Given the description of an element on the screen output the (x, y) to click on. 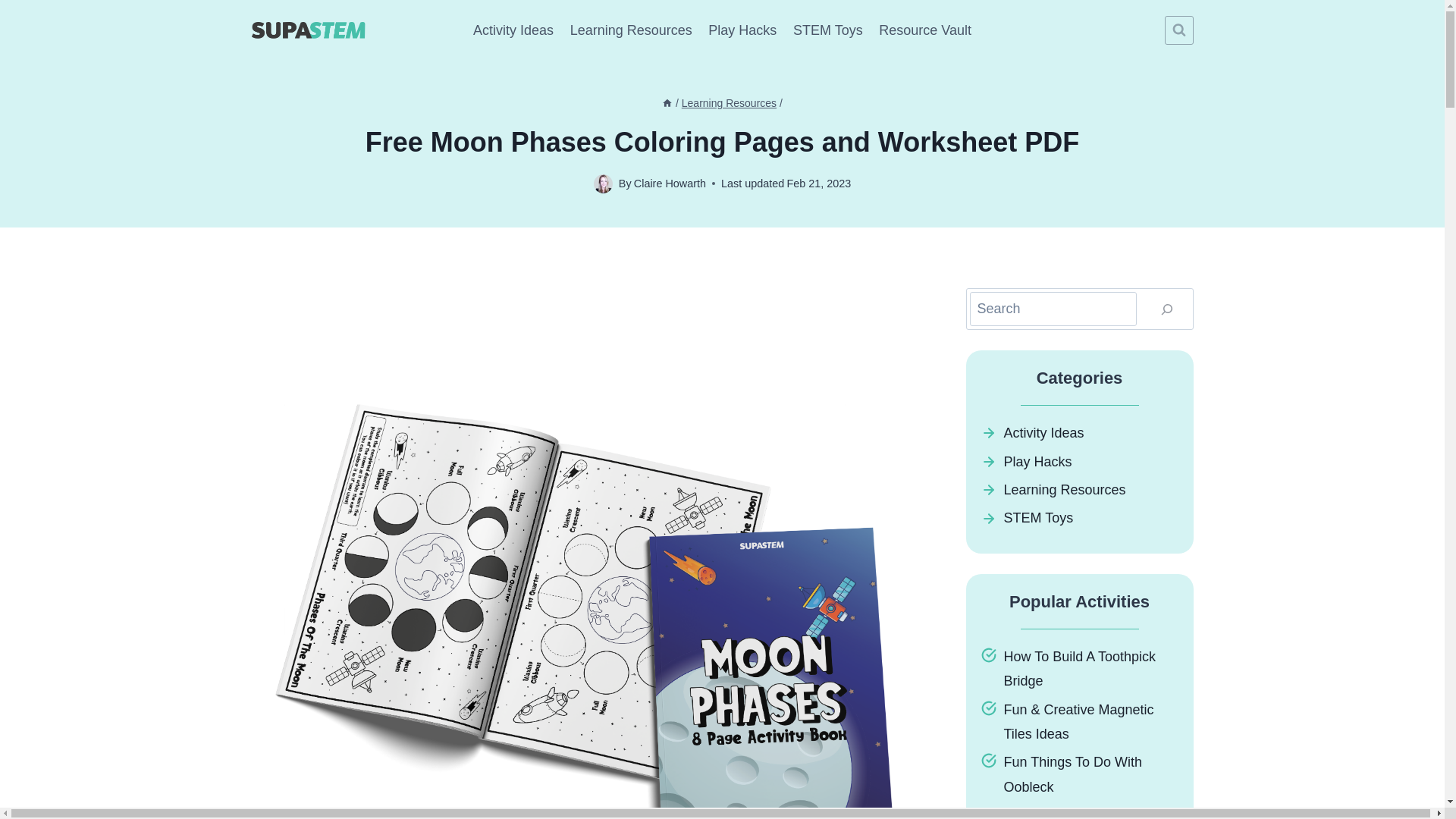
Learning Resources (728, 102)
STEM Toys (827, 30)
Play Hacks (1037, 461)
Learning Resources (631, 30)
Activity Ideas (1044, 432)
Play Hacks (743, 30)
Activity Ideas (513, 30)
Claire Howarth (669, 183)
Learning Resources (1064, 489)
STEM Toys (1039, 517)
Resource Vault (924, 30)
